Given the description of an element on the screen output the (x, y) to click on. 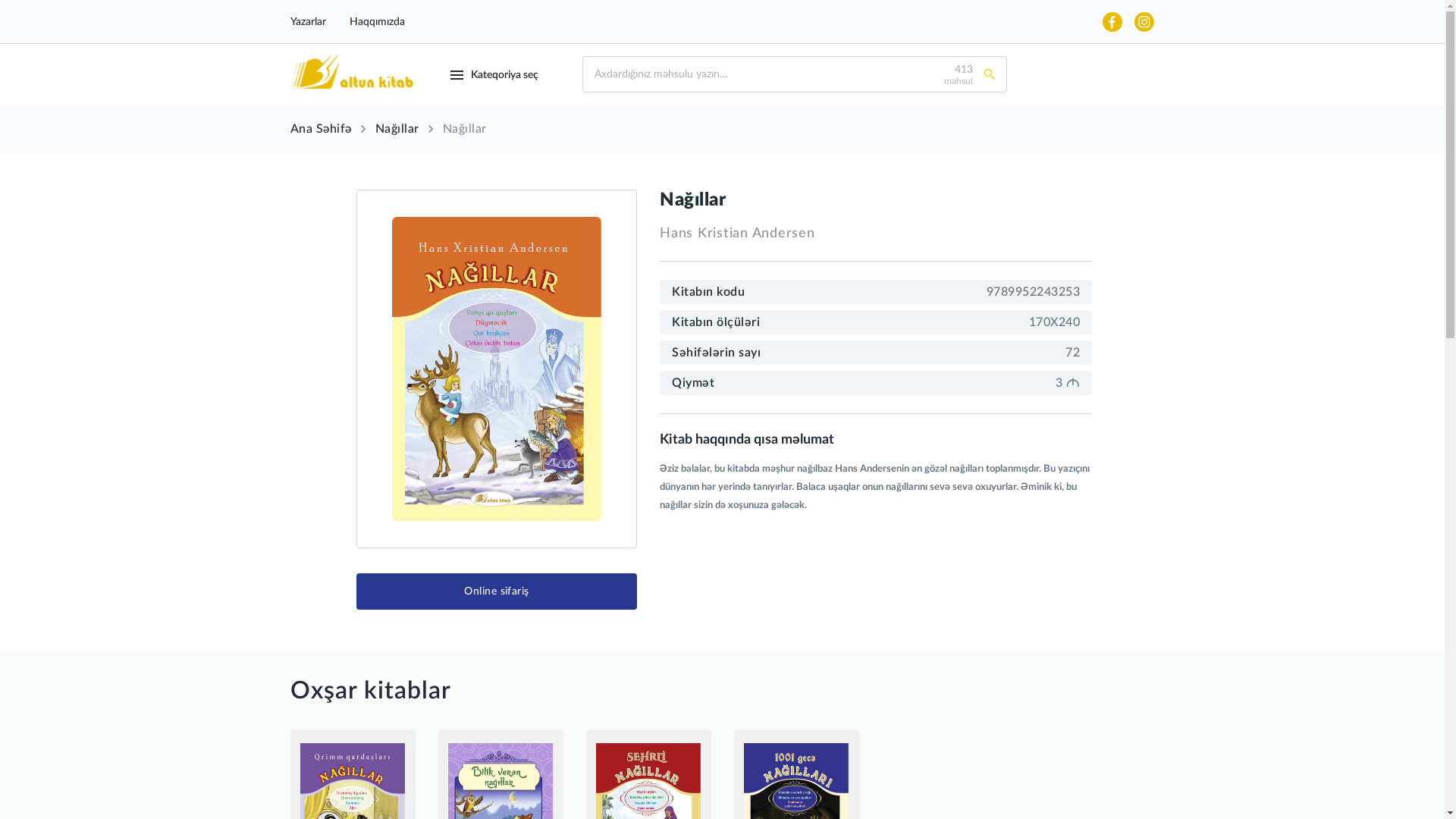
Yazarlar Element type: text (307, 21)
Hans Kristian Andersen Element type: text (737, 233)
